Given the description of an element on the screen output the (x, y) to click on. 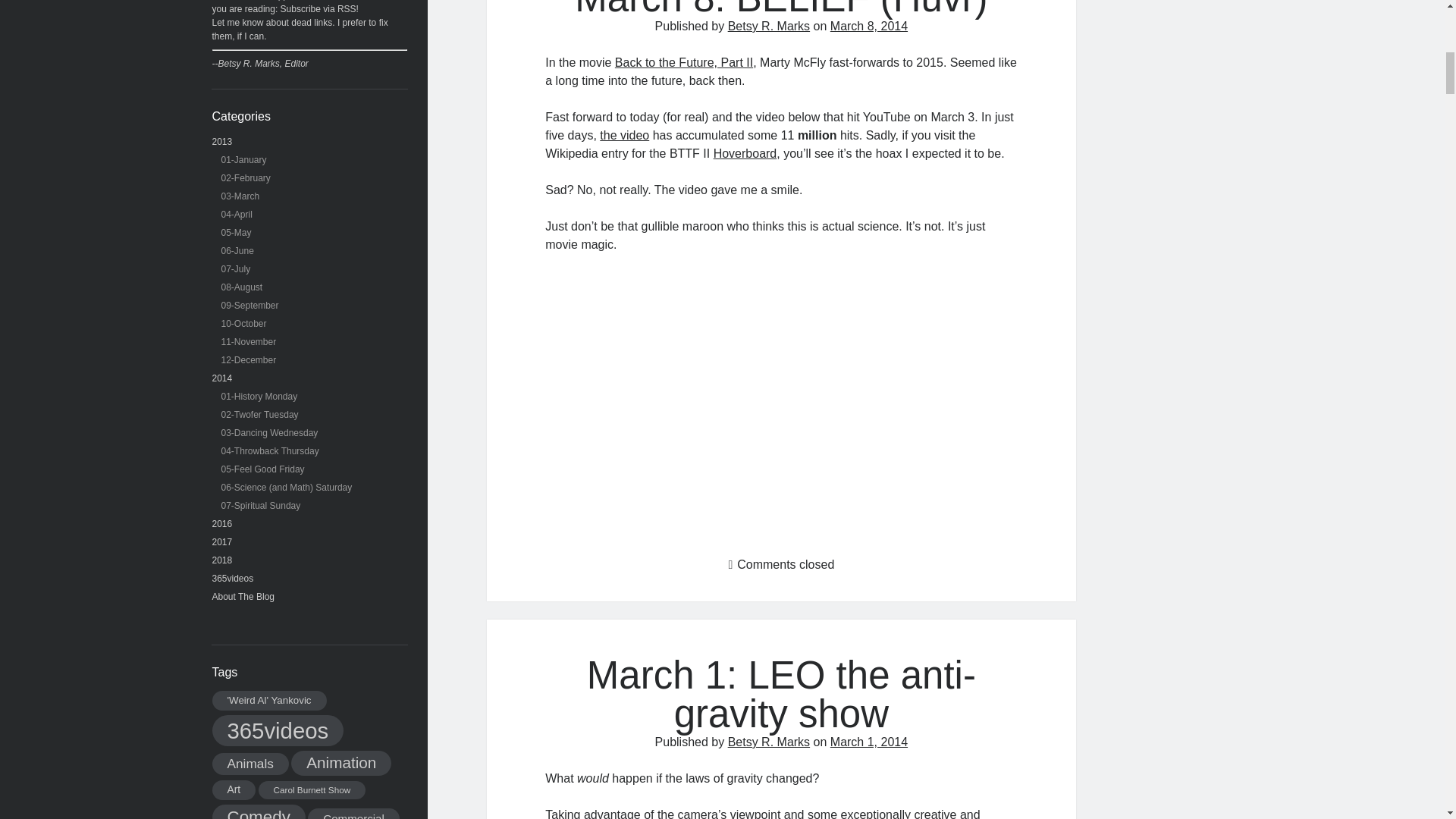
04-April (236, 214)
About The Blog (243, 596)
05-Feel Good Friday (262, 469)
01-January (243, 159)
07-July (235, 268)
05-May (236, 232)
2013 (222, 141)
2016 (222, 523)
Wikipedia: Hoverboard (745, 153)
02-Twofer Tuesday (259, 414)
